Given the description of an element on the screen output the (x, y) to click on. 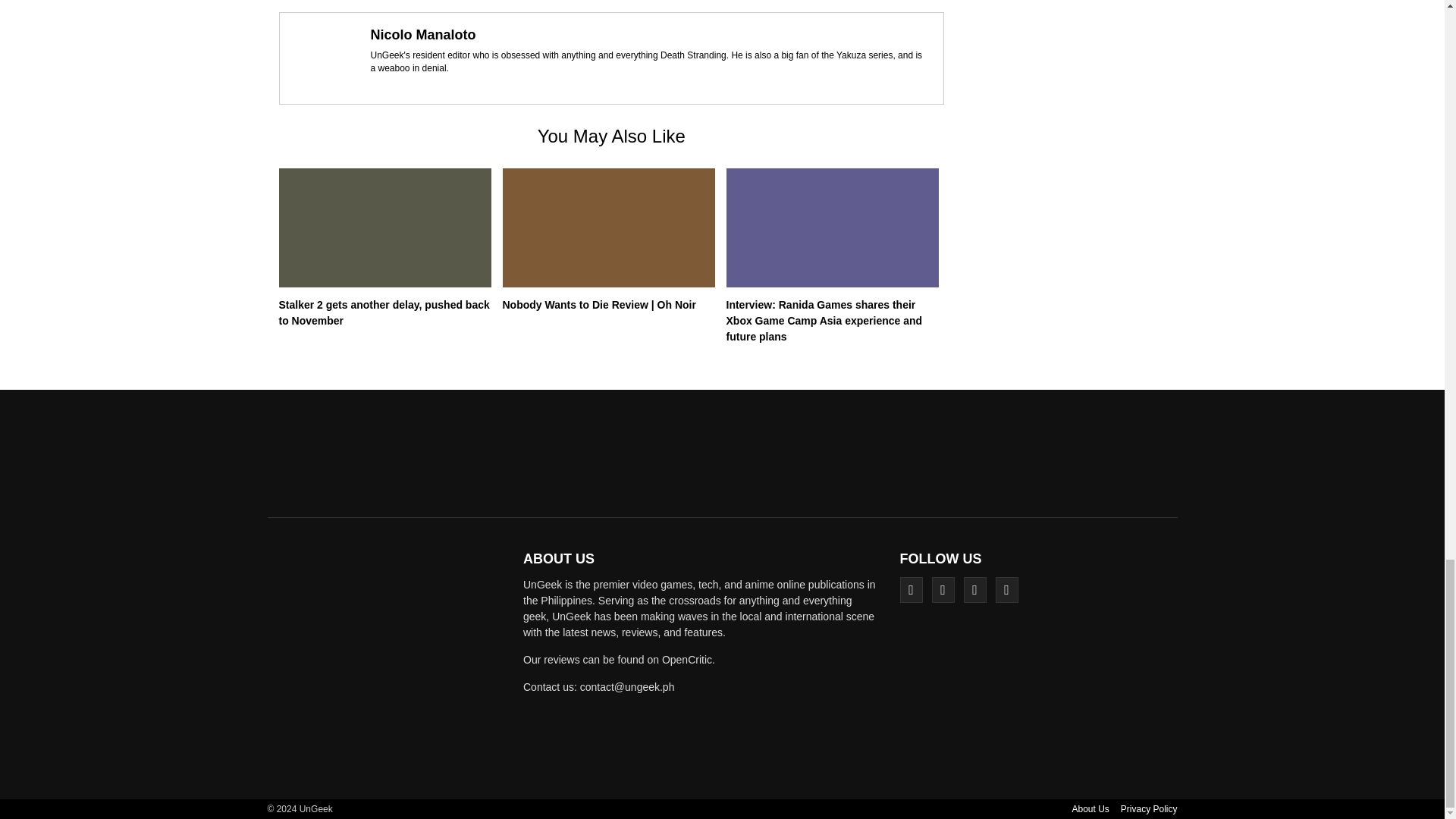
UnGeek (389, 662)
Stalker 2 gets another delay, pushed back to November (384, 312)
